Given the description of an element on the screen output the (x, y) to click on. 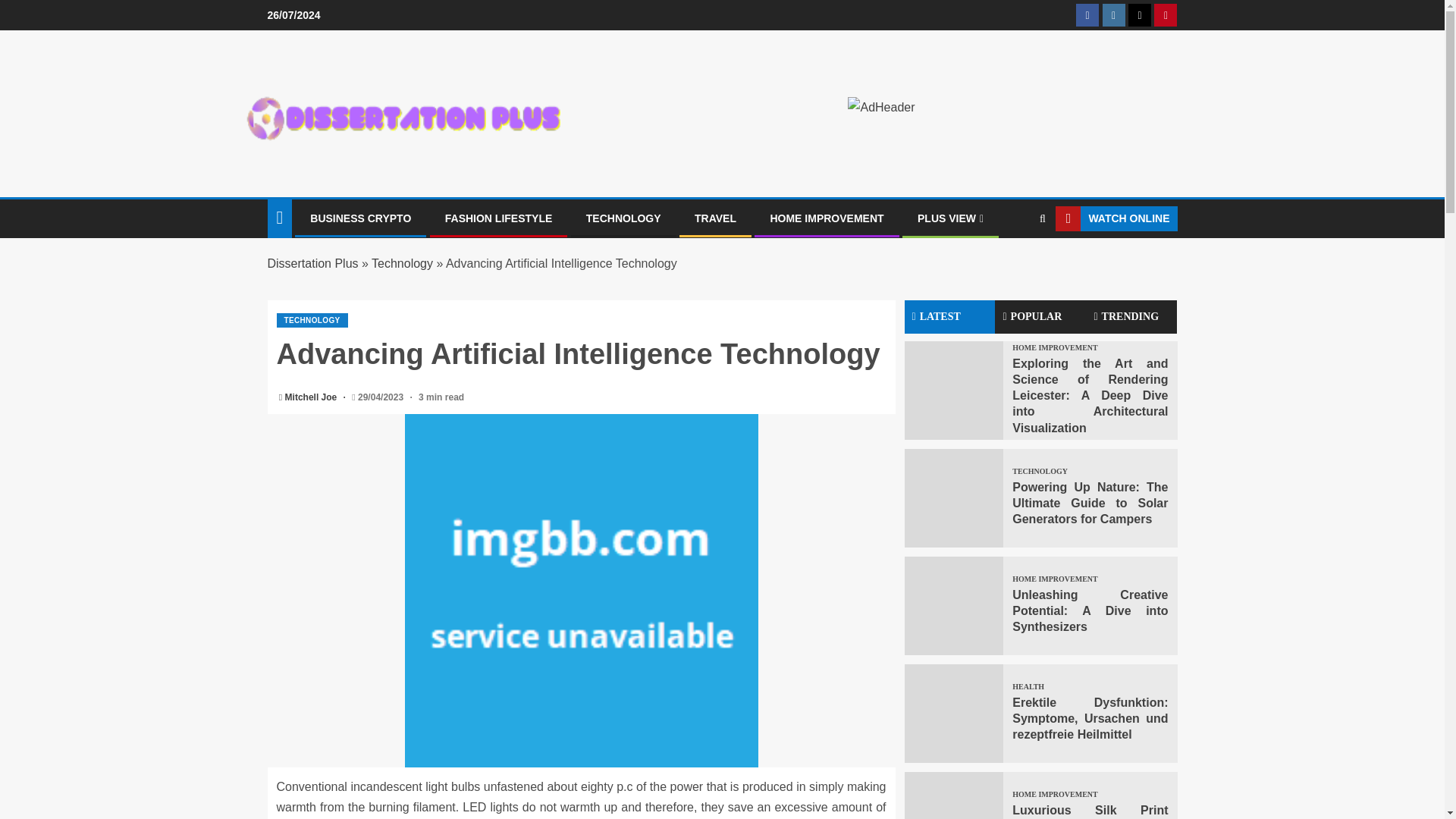
Search (1041, 218)
BUSINESS CRYPTO (360, 218)
PLUS VIEW (950, 218)
TECHNOLOGY (623, 218)
FASHION LIFESTYLE (499, 218)
Unleashing Creative Potential: A Dive into Synthesizers (953, 605)
HOME IMPROVEMENT (826, 218)
WATCH ONLINE (1115, 218)
Luxurious Silk Print Jackets for Glamorous Looks (953, 795)
